Given the description of an element on the screen output the (x, y) to click on. 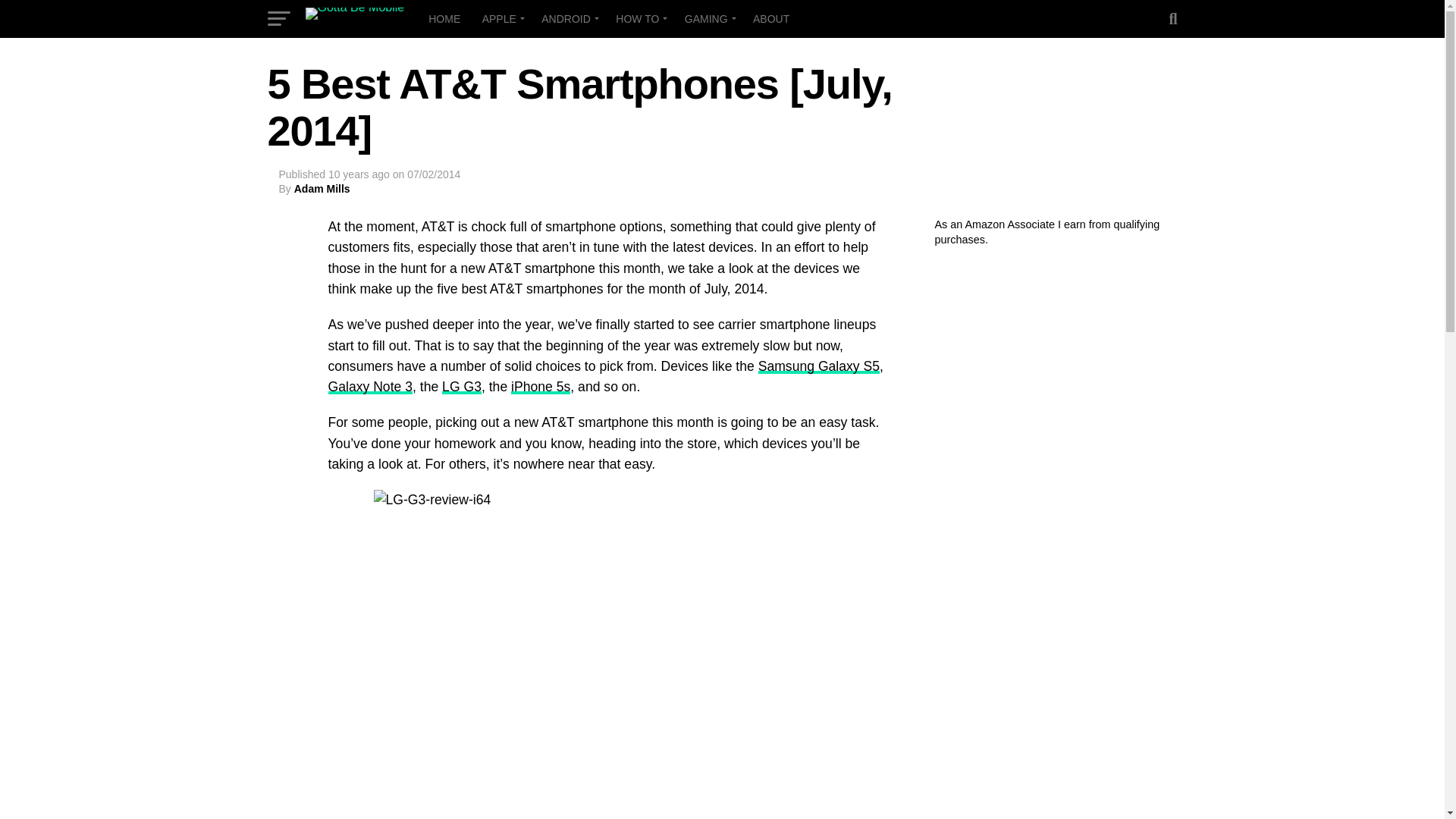
ANDROID (568, 18)
HOW TO (639, 18)
HOME (443, 18)
GAMING (708, 18)
Posts by Adam Mills (322, 188)
APPLE (501, 18)
